Given the description of an element on the screen output the (x, y) to click on. 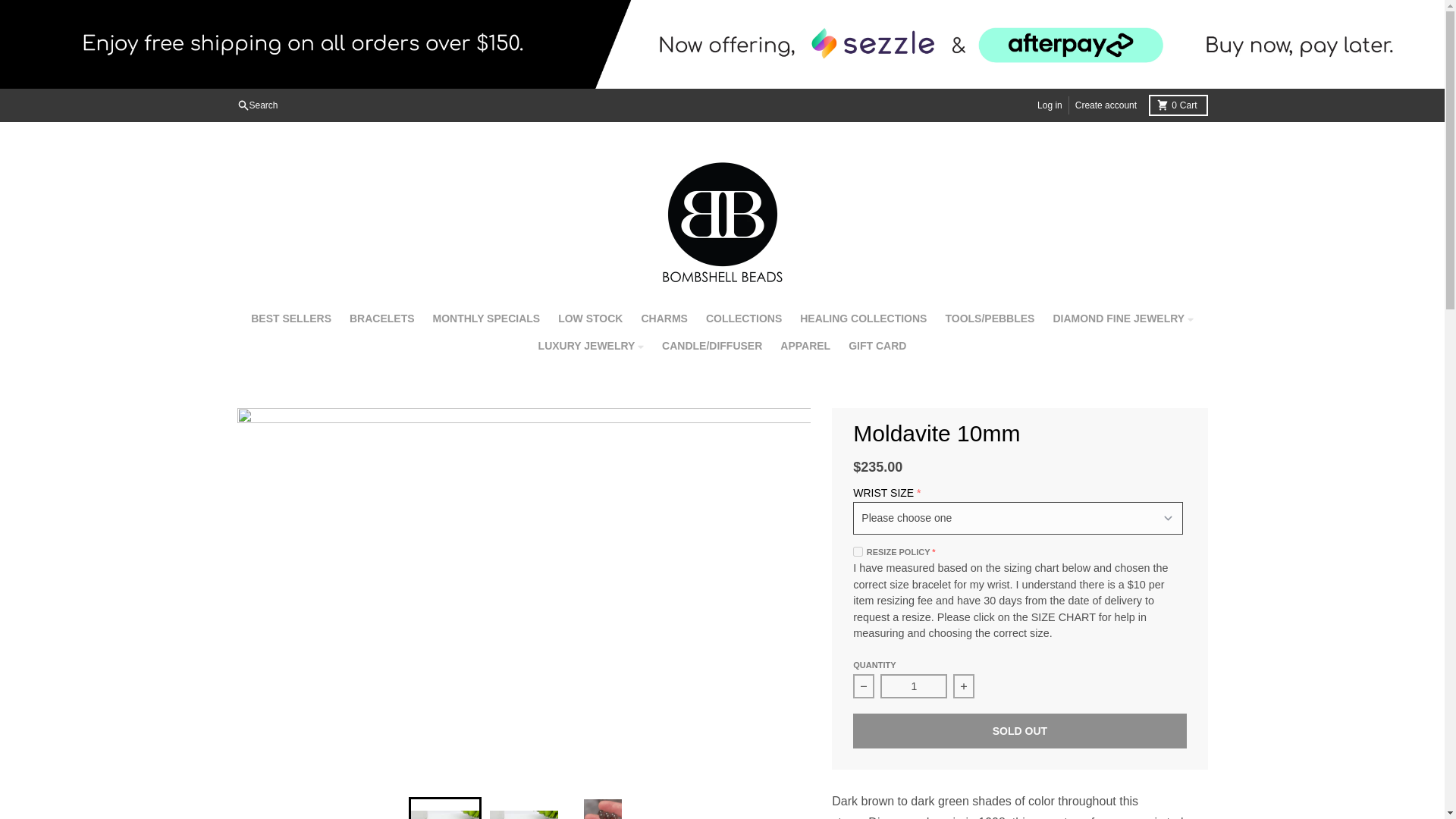
COLLECTIONS (743, 318)
CHARMS (663, 318)
Create account (1105, 105)
LOW STOCK (1177, 105)
1 (589, 318)
Log in (913, 686)
MONTHLY SPECIALS (1049, 105)
HEALING COLLECTIONS (486, 318)
BRACELETS (863, 318)
